Given the description of an element on the screen output the (x, y) to click on. 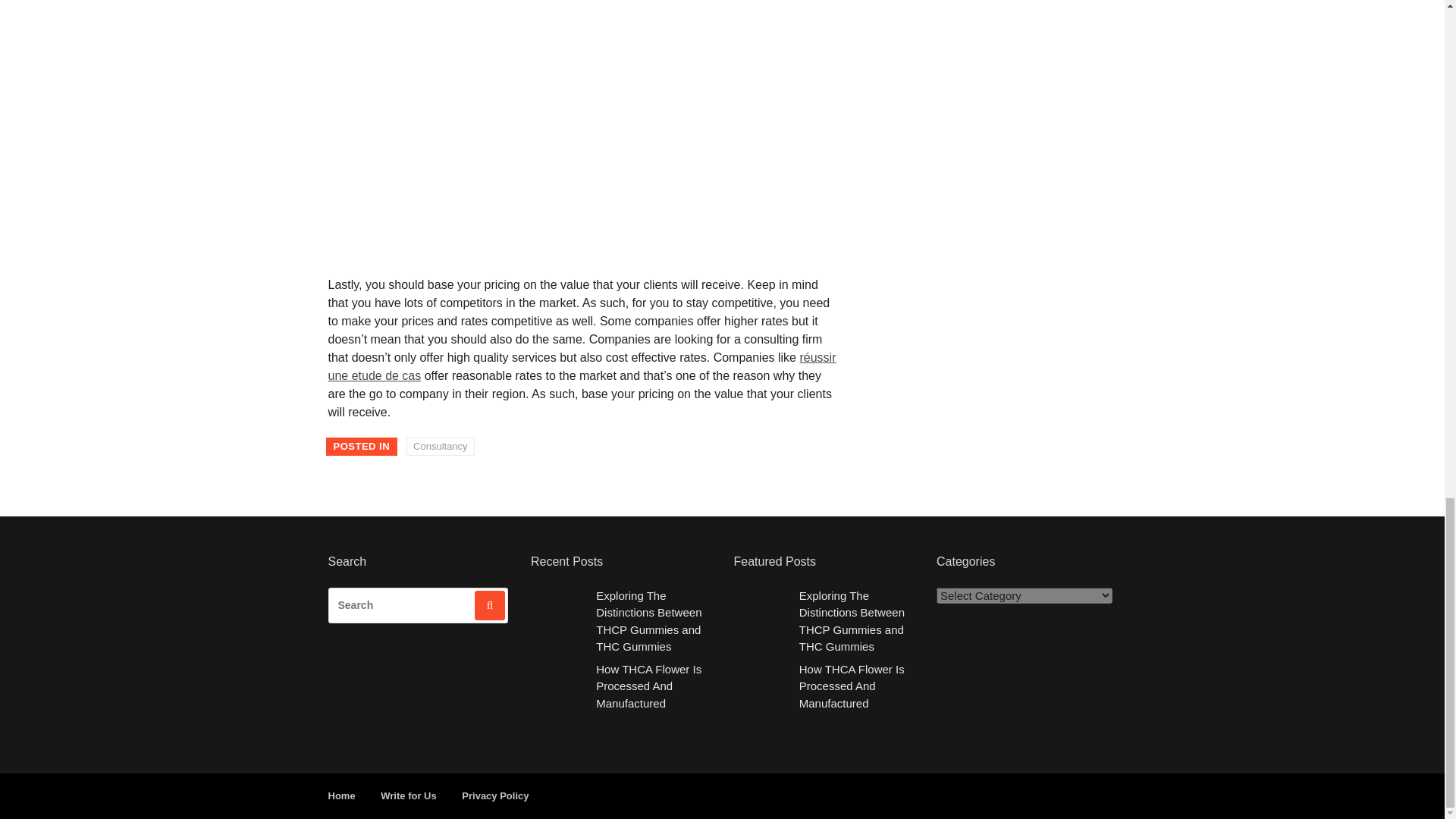
Consultancy (440, 446)
